Given the description of an element on the screen output the (x, y) to click on. 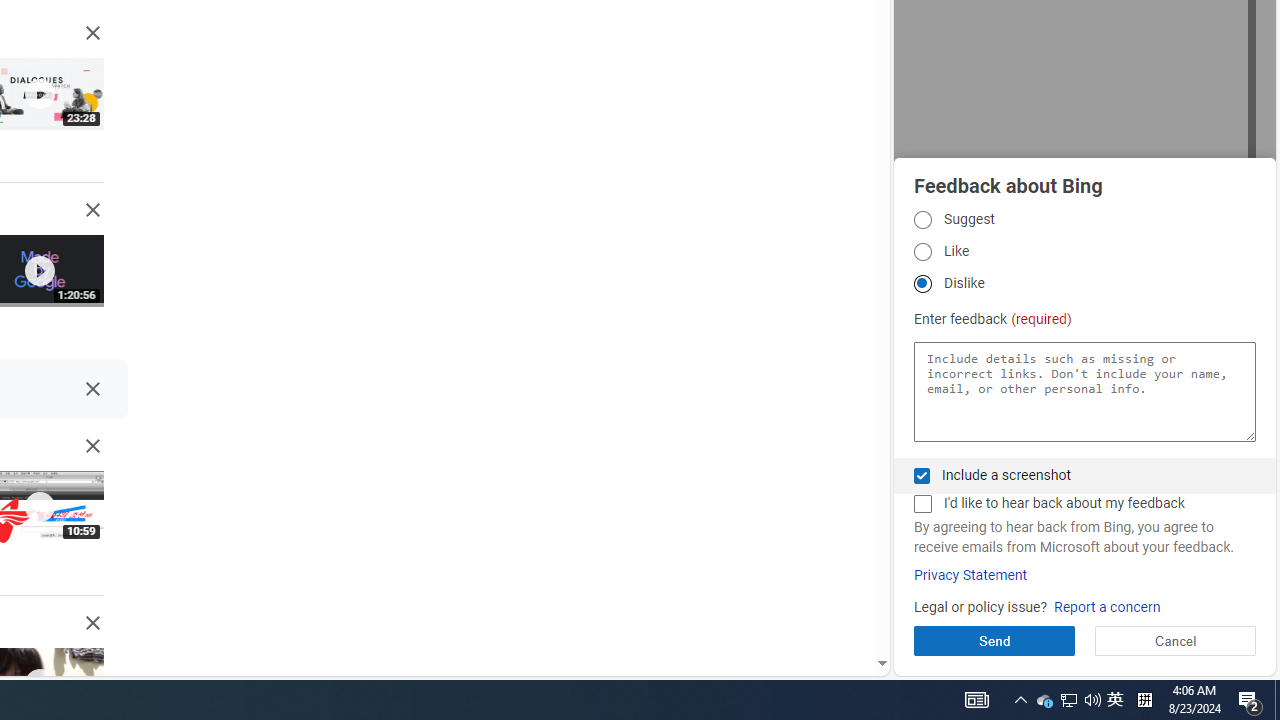
AutomationID: fbpgdgtp1 (922, 219)
Class: TjcpUd NMm5M (91, 623)
Include a screenshot Include a screenshot (921, 475)
Cancel (1174, 640)
AutomationID: fbpgdgsschk (921, 475)
Suggest Suggest (922, 219)
AutomationID: fbpgdgtp3 (922, 284)
Class: IVR0f NMm5M (38, 684)
AutomationID: fbpgdgcmchk (922, 503)
Like Like (922, 251)
Class: DI7Mnf NMm5M (91, 389)
